Given the description of an element on the screen output the (x, y) to click on. 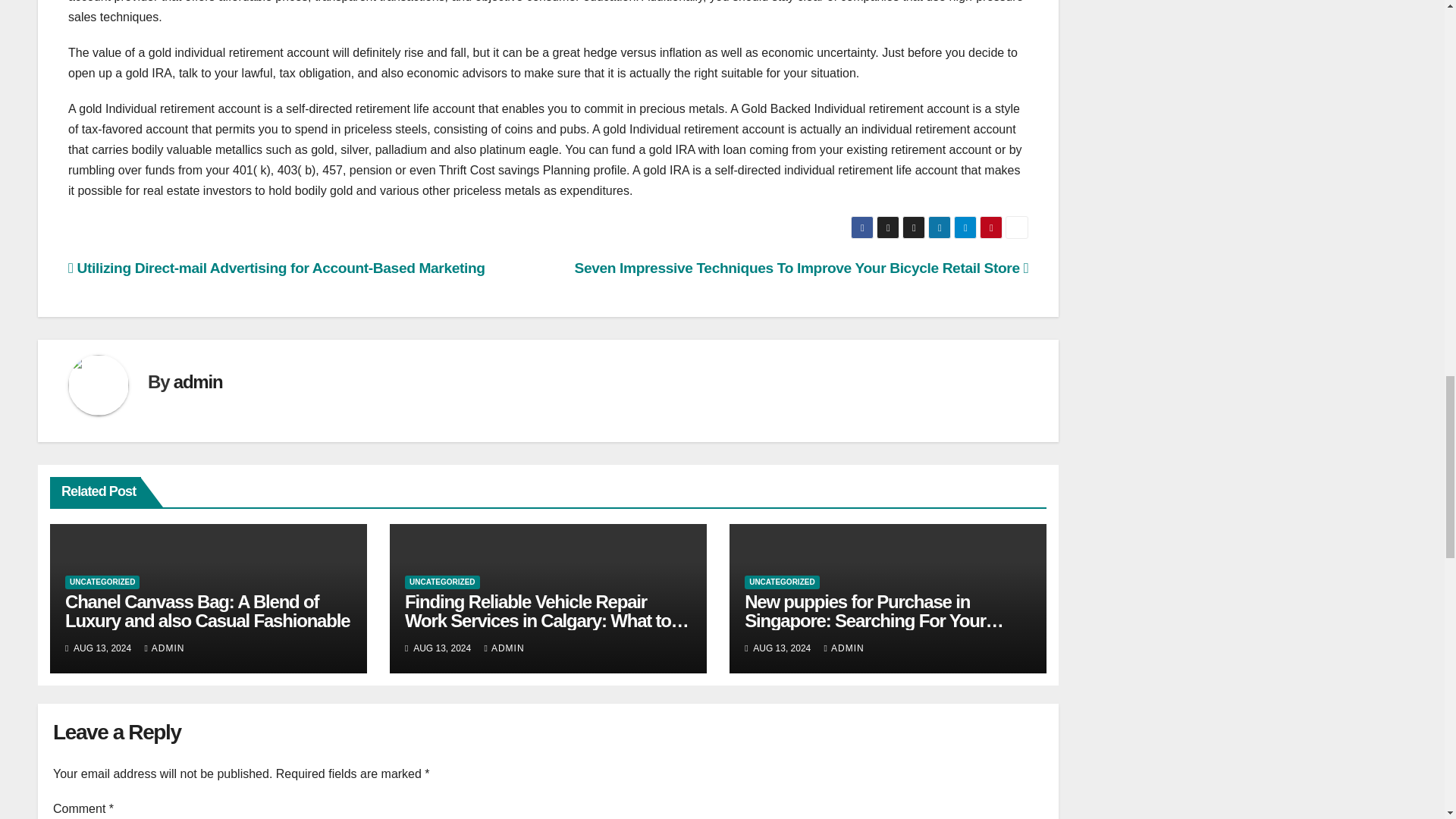
ADMIN (844, 647)
ADMIN (164, 647)
ADMIN (504, 647)
UNCATEGORIZED (102, 581)
UNCATEGORIZED (781, 581)
